Given the description of an element on the screen output the (x, y) to click on. 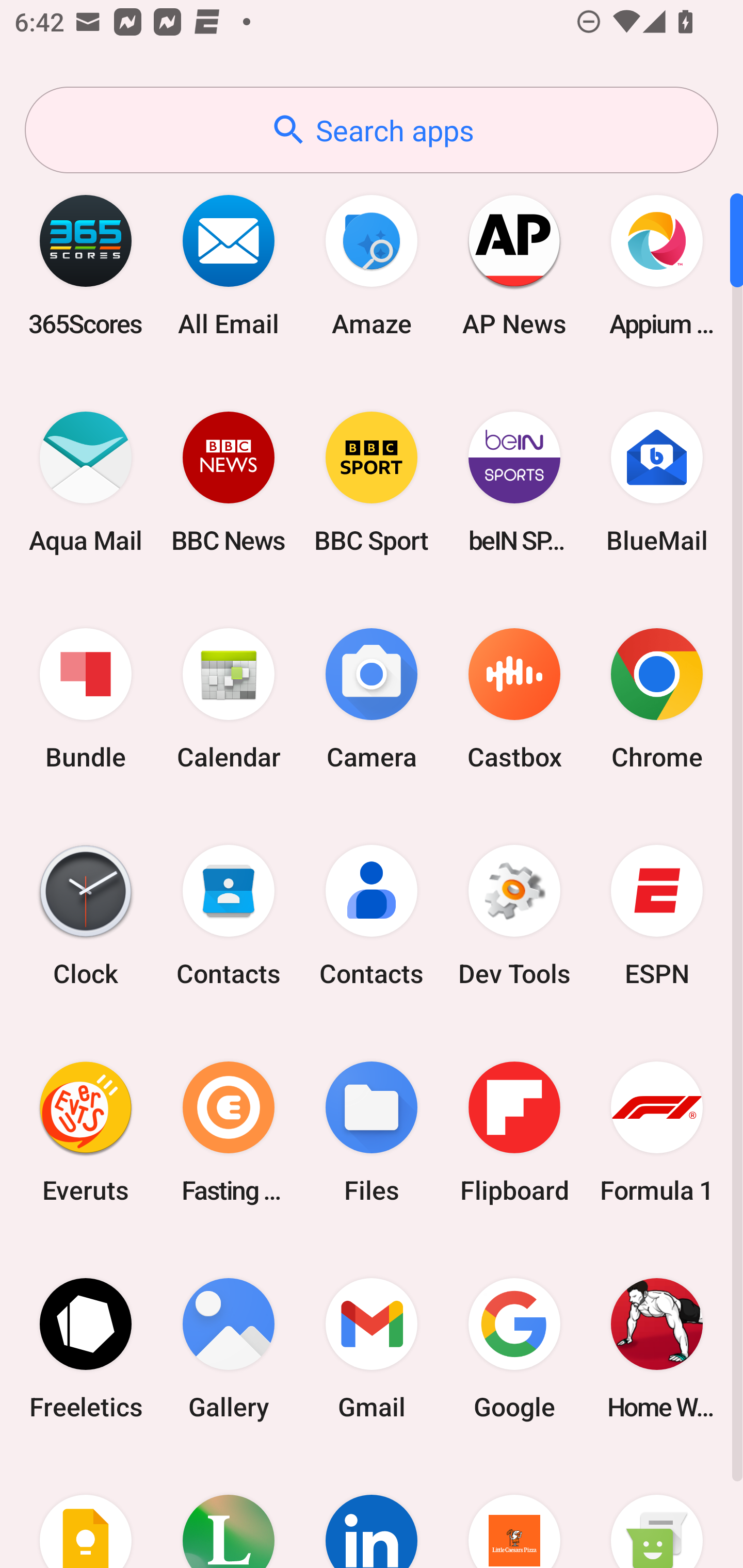
  Search apps (371, 130)
365Scores (85, 264)
All Email (228, 264)
Amaze (371, 264)
AP News (514, 264)
Appium Settings (656, 264)
Aqua Mail (85, 482)
BBC News (228, 482)
BBC Sport (371, 482)
beIN SPORTS (514, 482)
BlueMail (656, 482)
Bundle (85, 699)
Calendar (228, 699)
Camera (371, 699)
Castbox (514, 699)
Chrome (656, 699)
Clock (85, 915)
Contacts (228, 915)
Contacts (371, 915)
Dev Tools (514, 915)
ESPN (656, 915)
Everuts (85, 1131)
Fasting Coach (228, 1131)
Files (371, 1131)
Flipboard (514, 1131)
Formula 1 (656, 1131)
Freeletics (85, 1348)
Gallery (228, 1348)
Gmail (371, 1348)
Google (514, 1348)
Home Workout (656, 1348)
